Given the description of an element on the screen output the (x, y) to click on. 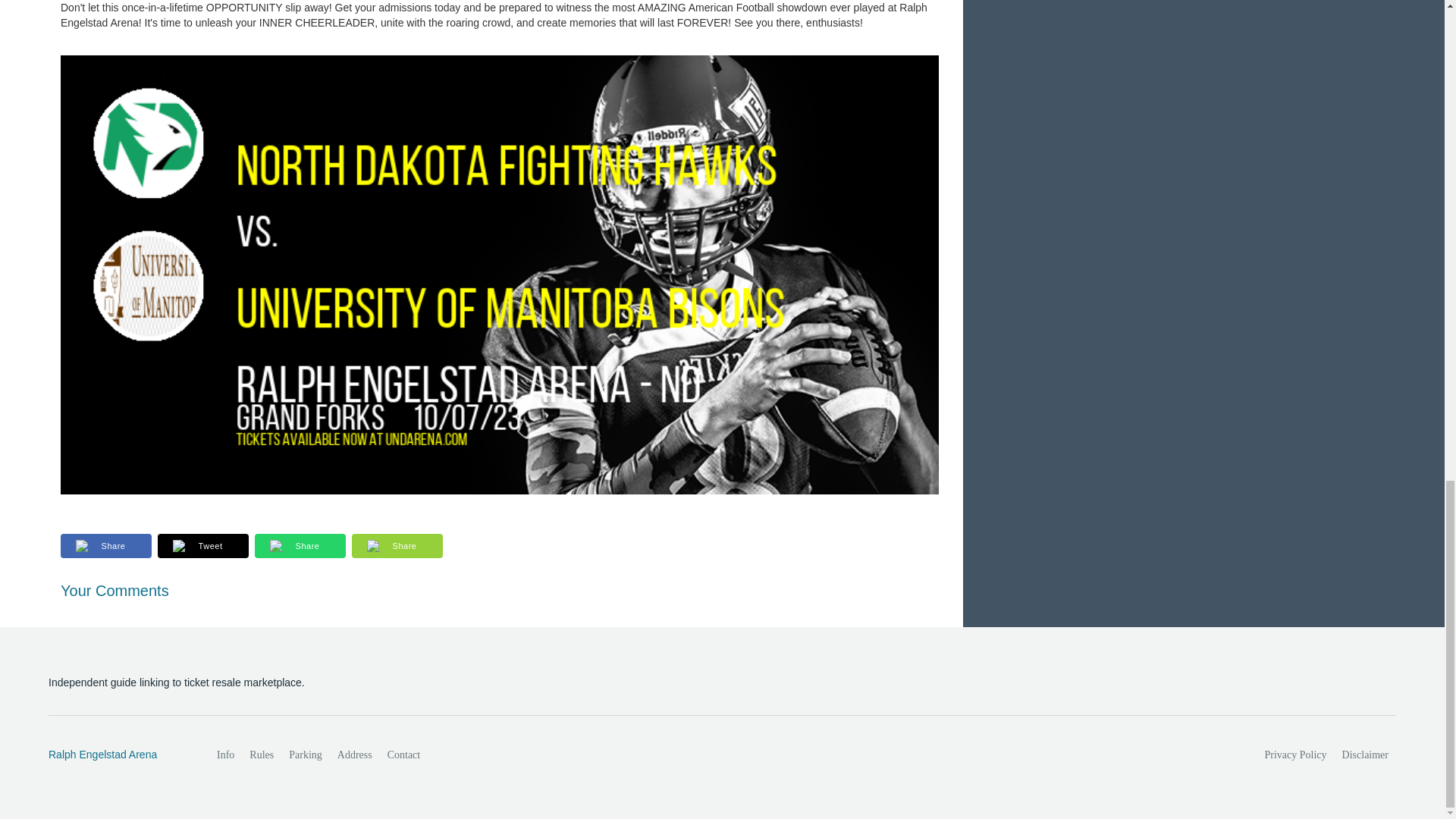
Contact (404, 755)
Privacy Policy (1296, 755)
Disclaimer (1365, 755)
Rules (261, 755)
Address (355, 755)
Parking (305, 755)
Info (225, 755)
Ralph Engelstad Arena (116, 754)
